Given the description of an element on the screen output the (x, y) to click on. 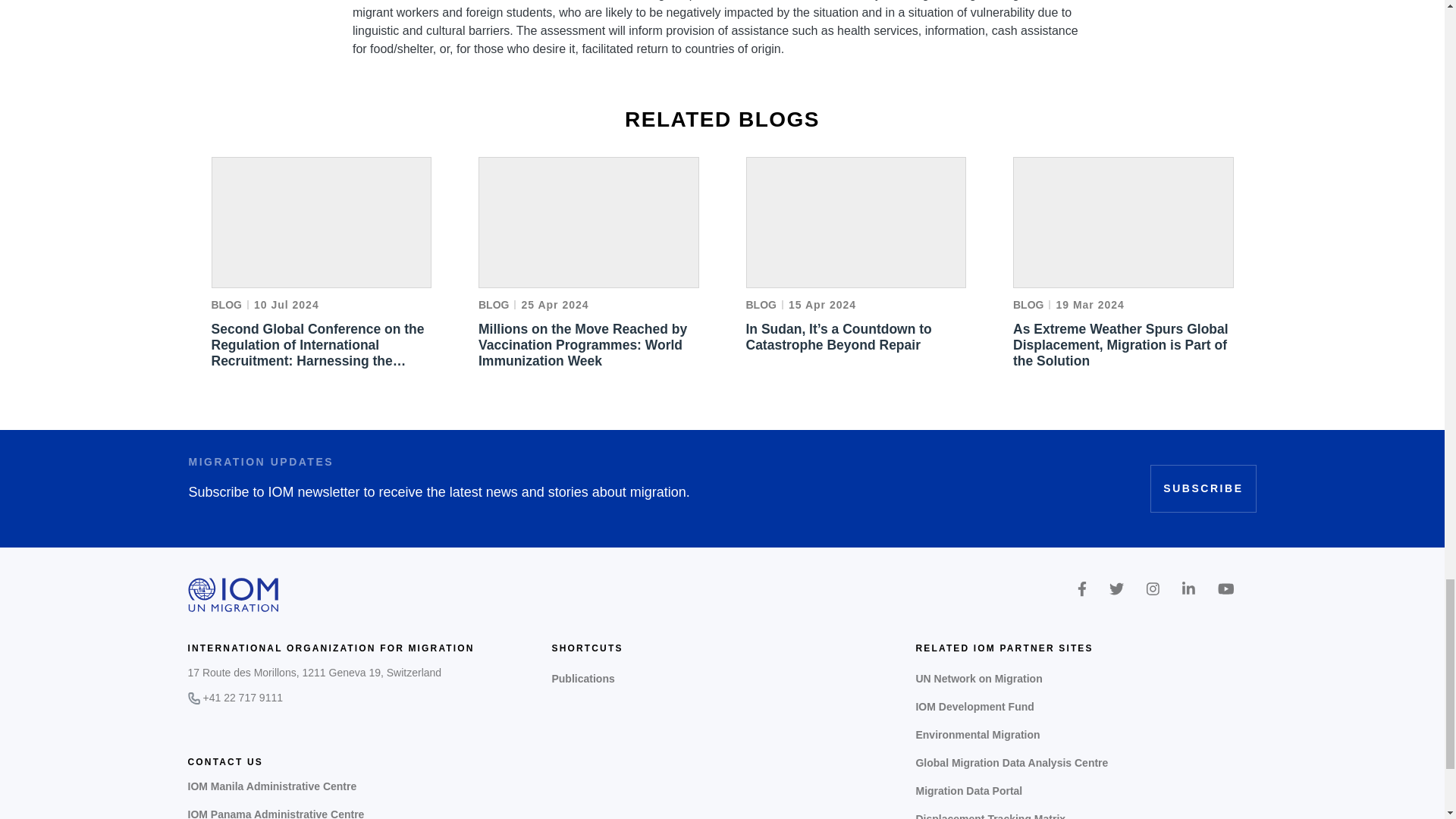
IOM Manila Administrative Centre (271, 786)
SUBSCRIBE (1202, 488)
Environmental Migration (1085, 735)
Migration Data Portal (1085, 791)
Publications (721, 678)
Home (233, 594)
UN Network on Migration (1085, 678)
